Given the description of an element on the screen output the (x, y) to click on. 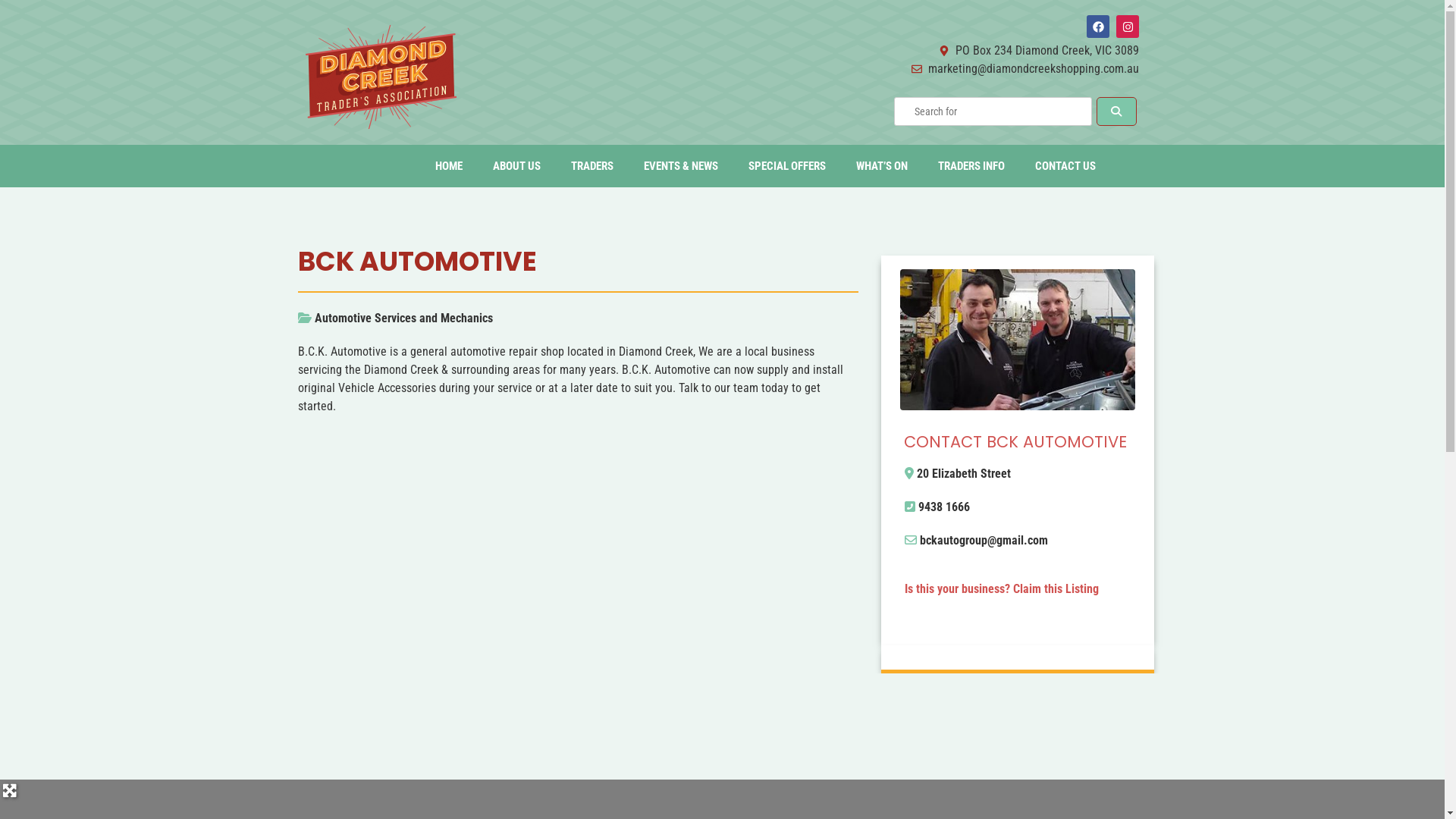
SPECIAL OFFERS Element type: text (786, 165)
HOME Element type: text (448, 165)
Automotive Services Element type: text (365, 317)
TRADERS INFO Element type: text (970, 165)
EVENTS & NEWS Element type: text (680, 165)
SEARCH Element type: text (1116, 111)
Mechanics Element type: text (466, 317)
bckautogroup@gmail.com Element type: text (983, 540)
9438 1666 Element type: text (943, 506)
TRADERS Element type: text (591, 165)
Is this your business? Claim this Listing Element type: text (1001, 588)
CONTACT US Element type: text (1064, 165)
ABOUT US Element type: text (516, 165)
